Given the description of an element on the screen output the (x, y) to click on. 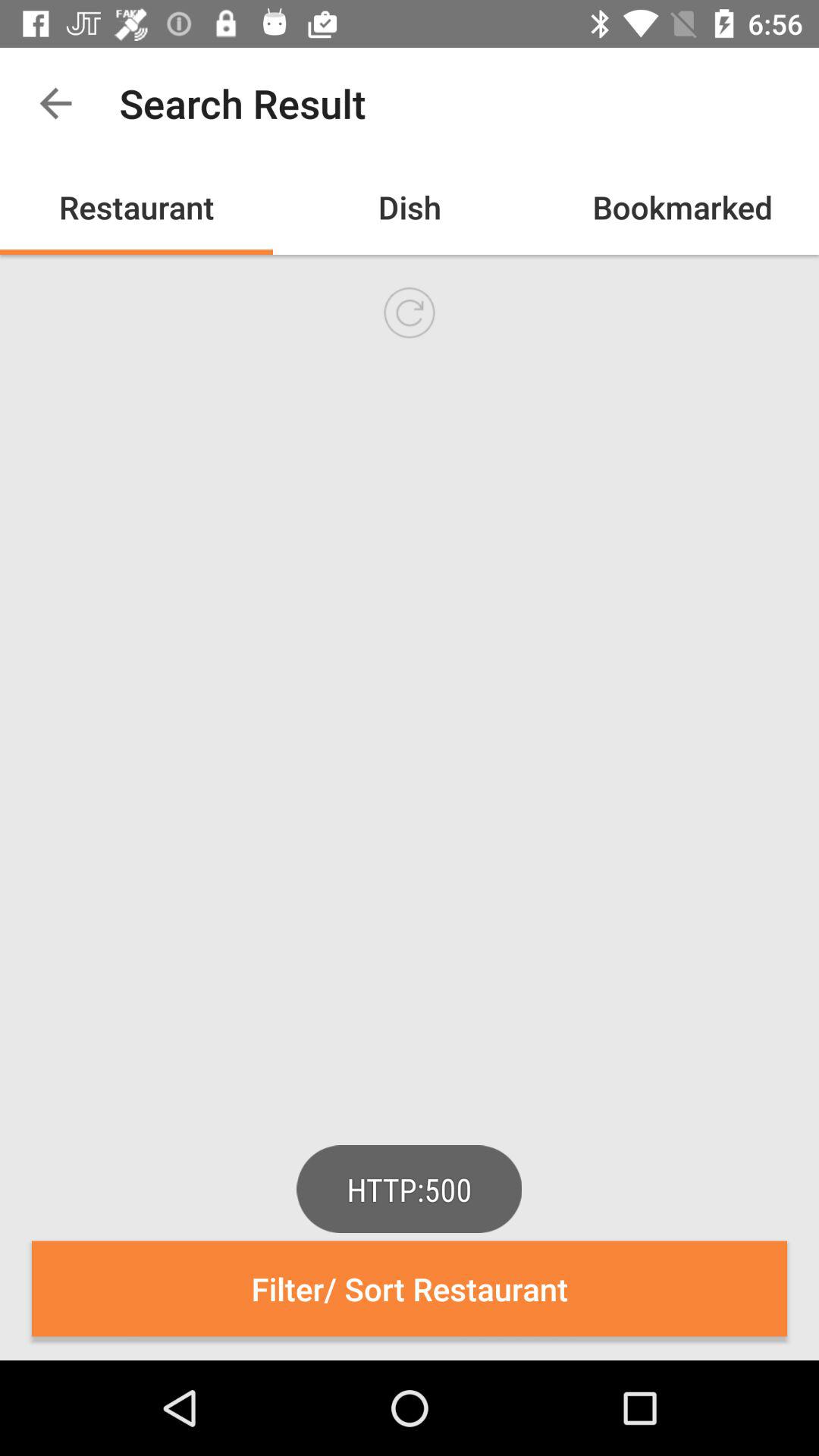
refresh (409, 312)
